Given the description of an element on the screen output the (x, y) to click on. 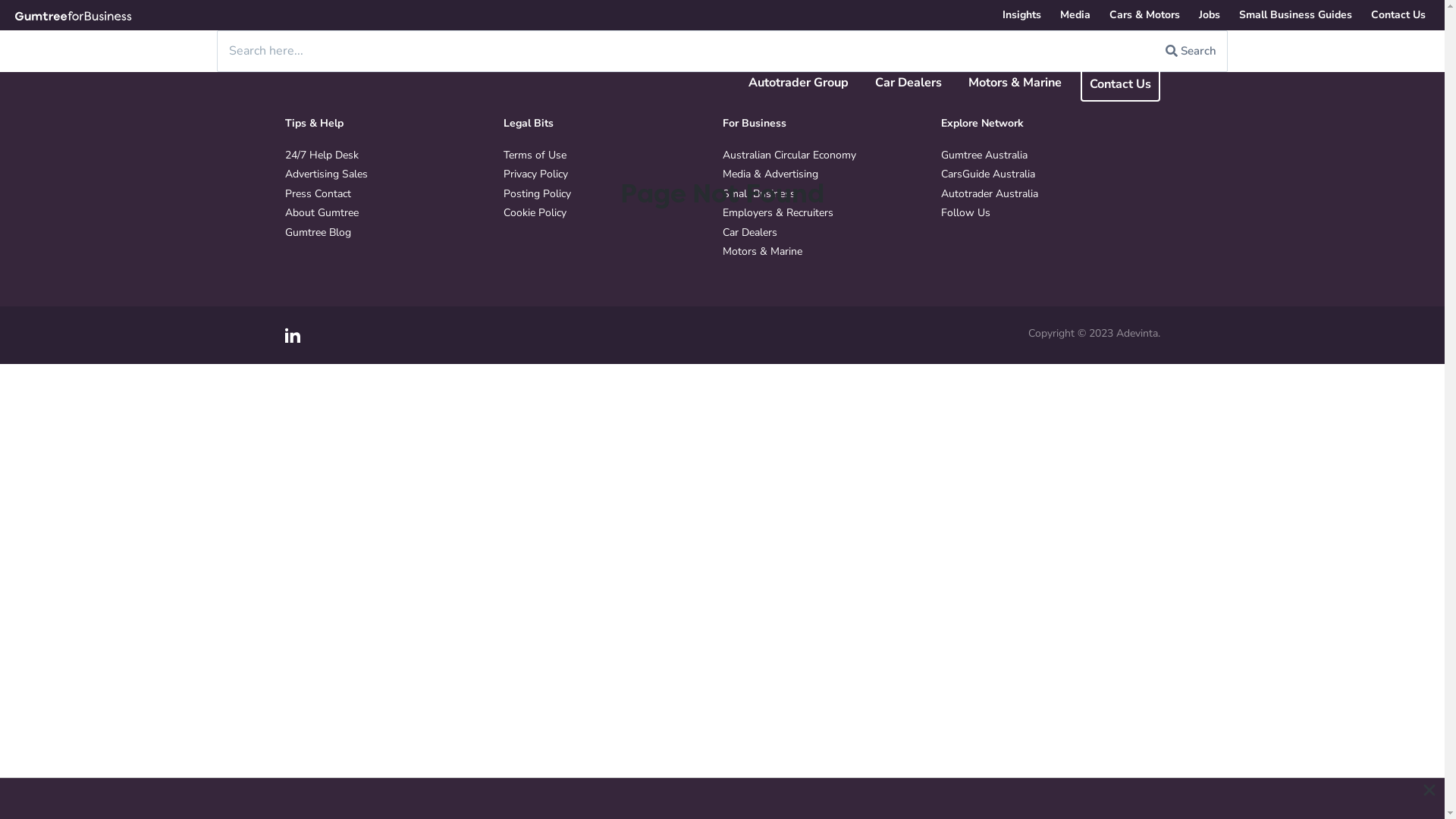
Small Business Element type: text (757, 193)
Contact Us Element type: text (1119, 84)
Posting Policy Element type: text (537, 193)
Autotrader Group Element type: text (797, 82)
CarsGuide Australia Element type: text (988, 173)
Legal Bits Element type: text (609, 123)
Motors & Marine Element type: text (1014, 82)
Follow Us Element type: text (965, 212)
Small Business Guides Element type: text (1295, 14)
Jobs Element type: text (1209, 14)
Gumtree Australia Element type: text (984, 154)
Advertising Sales Element type: text (326, 173)
Media Element type: text (1075, 14)
Privacy Policy Element type: text (535, 173)
Search Element type: text (1190, 50)
Autotrader Australia Element type: text (989, 193)
Terms of Use Element type: text (534, 154)
Car Dealers Element type: text (908, 82)
Australian Circular Economy Element type: text (788, 154)
Media & Advertising Element type: text (769, 173)
Employers & Recruiters Element type: text (776, 212)
24/7 Help Desk Element type: text (321, 154)
Motors & Marine Element type: text (761, 251)
Explore Network Element type: text (1046, 123)
Cookie Policy Element type: text (534, 212)
About Gumtree Element type: text (321, 212)
For Business Element type: text (827, 123)
Contact Us Element type: text (1398, 14)
Gumtree Blog Element type: text (318, 232)
Insights Element type: text (1021, 14)
Press Contact Element type: text (318, 193)
LinkedIn Element type: text (292, 334)
Tips & Help Element type: text (390, 123)
Cars & Motors Element type: text (1144, 14)
Car Dealers Element type: text (748, 232)
